Given the description of an element on the screen output the (x, y) to click on. 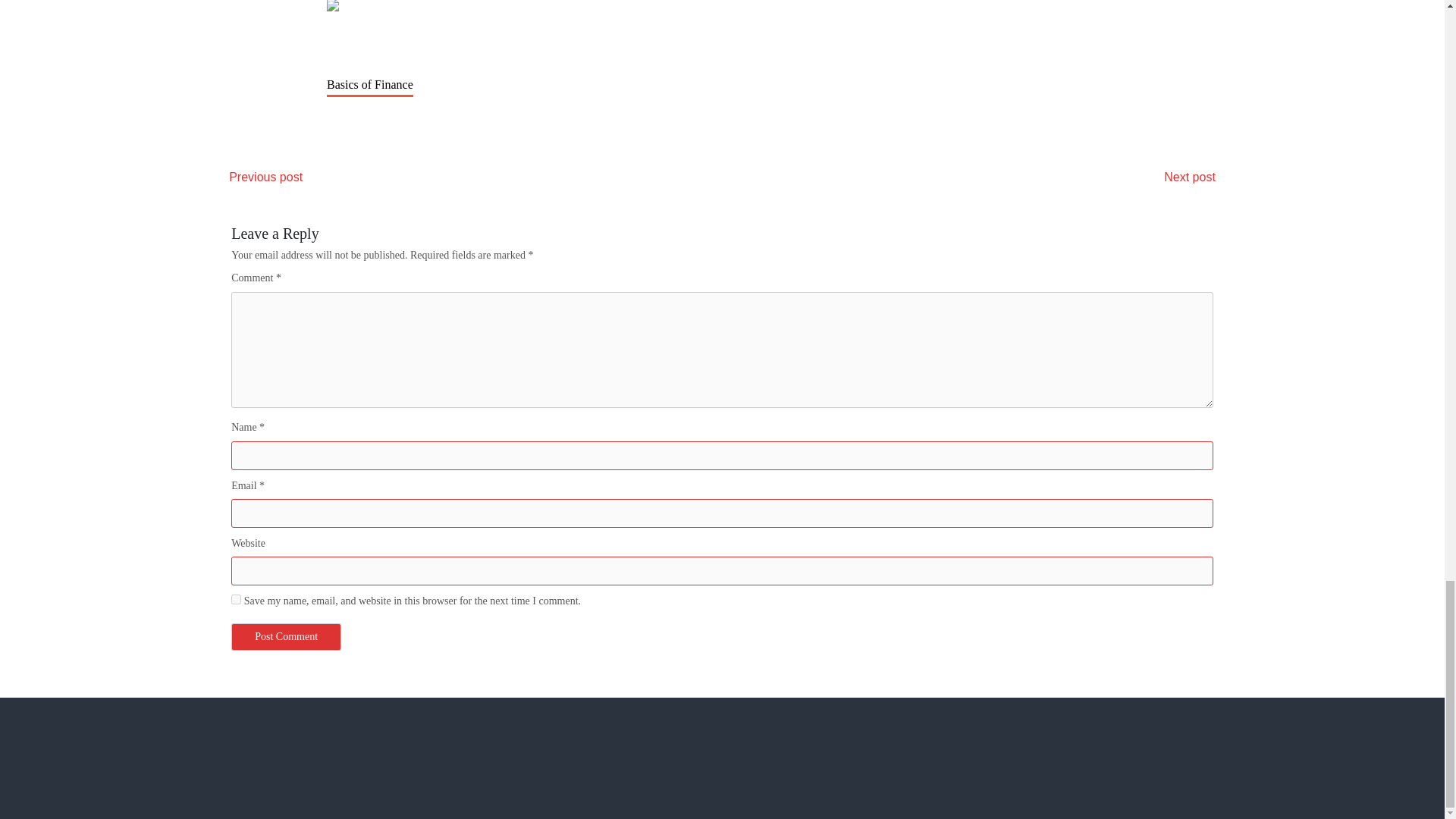
yes (236, 599)
Post Comment (285, 636)
